Given the description of an element on the screen output the (x, y) to click on. 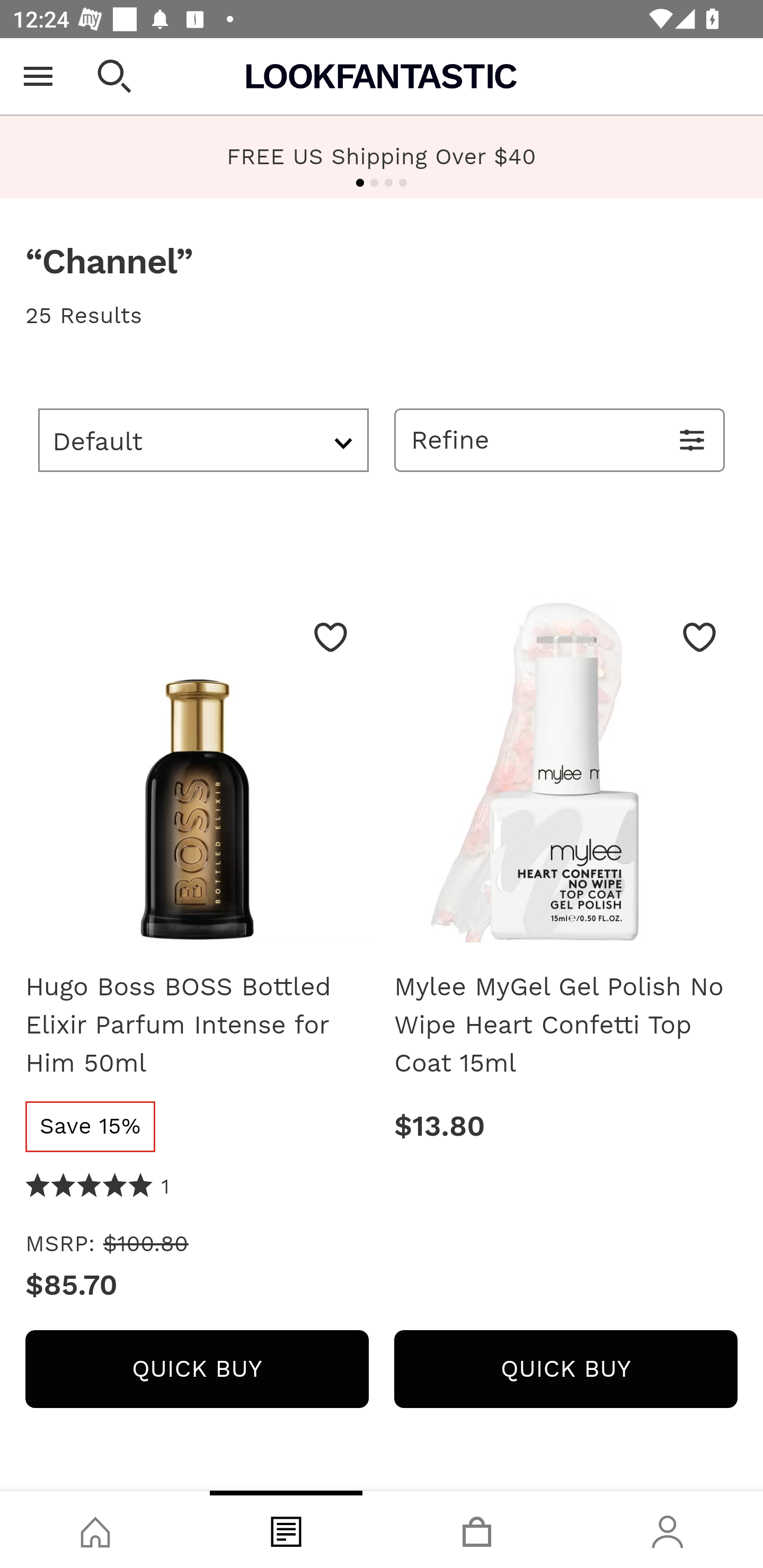
Open Menu (38, 75)
Open search (114, 75)
Lookfantastic USA (381, 75)
FREE US Shipping Over $40 (381, 157)
FREE US Shipping Over $40 (381, 155)
Default (203, 439)
Refine (559, 439)
Save to Wishlist (330, 637)
Save to Wishlist (698, 637)
Save 15%, read more (90, 1126)
Price: $13.80 (565, 1126)
5.0 Stars 1 Reviews (97, 1187)
Shop, tab, 1 of 4 (95, 1529)
Blog, tab, 2 of 4 (285, 1529)
Basket, tab, 3 of 4 (476, 1529)
Account, tab, 4 of 4 (667, 1529)
